Given the description of an element on the screen output the (x, y) to click on. 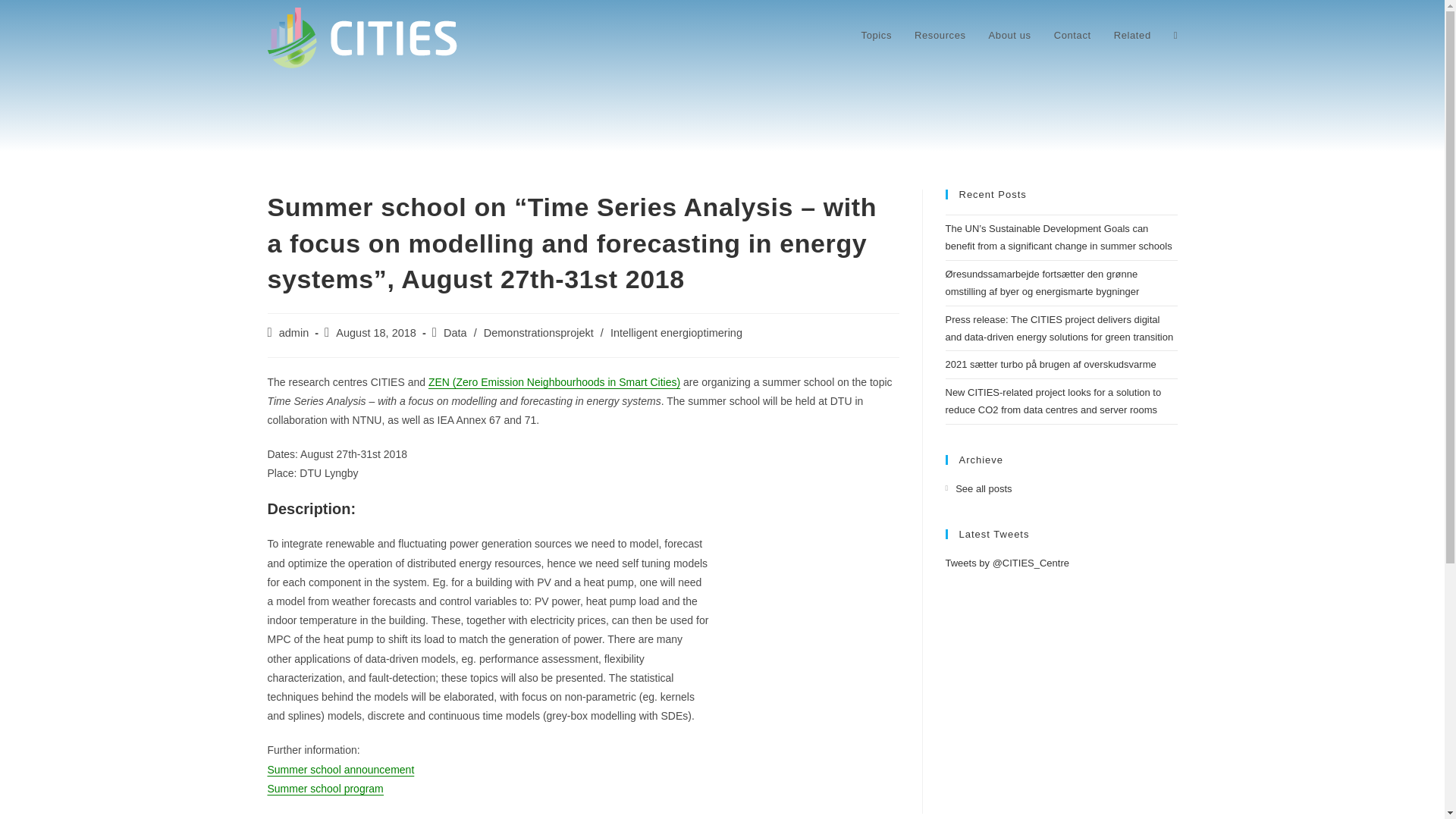
Intelligent energioptimering (676, 332)
Contact (1072, 35)
About us (1009, 35)
Summer school program (324, 788)
See all posts (977, 488)
Summer school announcement (339, 769)
Demonstrationsprojekt (538, 332)
admin (293, 332)
Topics (876, 35)
Posts by admin (293, 332)
